Given the description of an element on the screen output the (x, y) to click on. 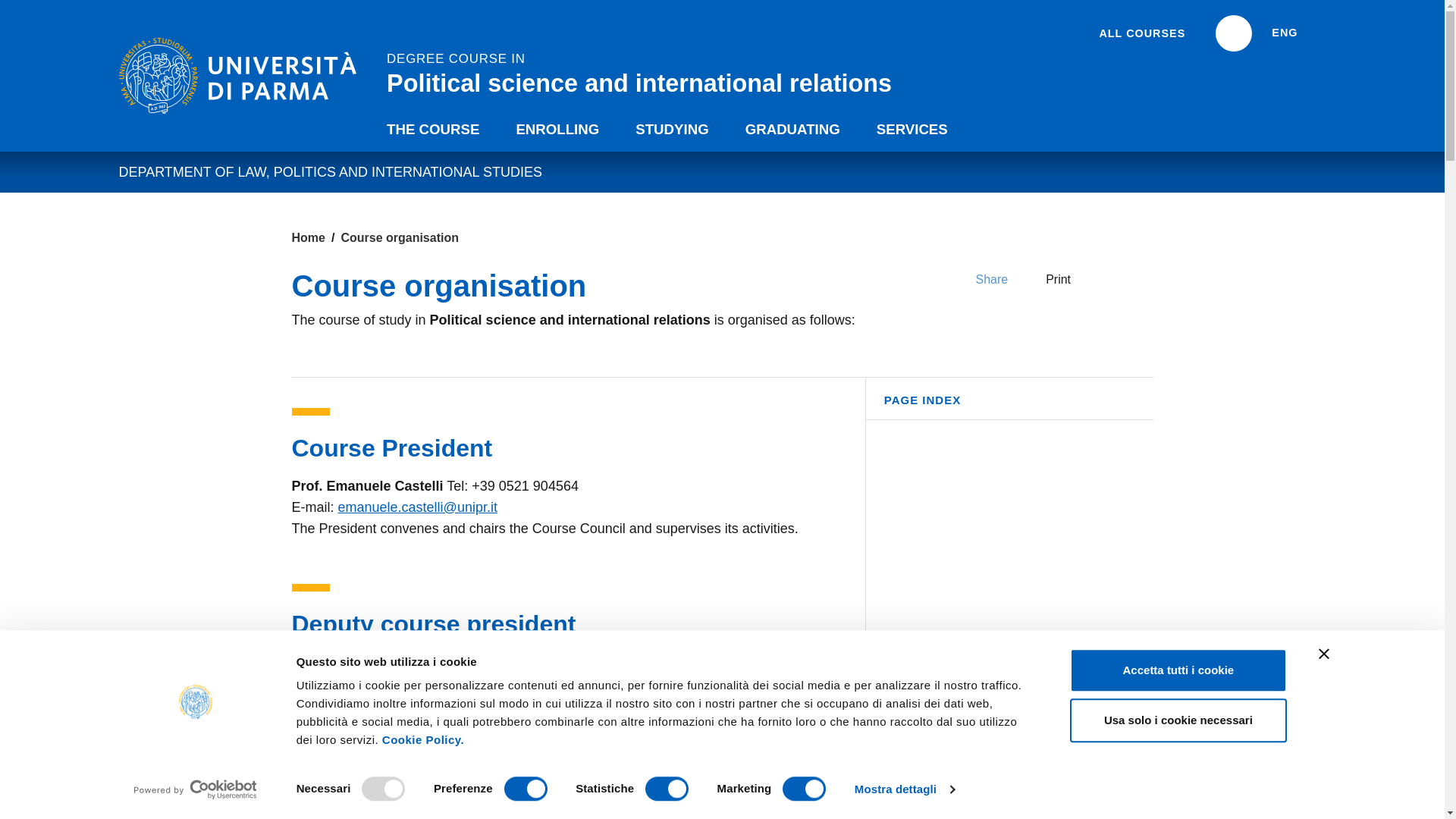
PAGE INDEX (1009, 405)
Mostra dettagli (904, 789)
Cookie Policy. (422, 739)
